Given the description of an element on the screen output the (x, y) to click on. 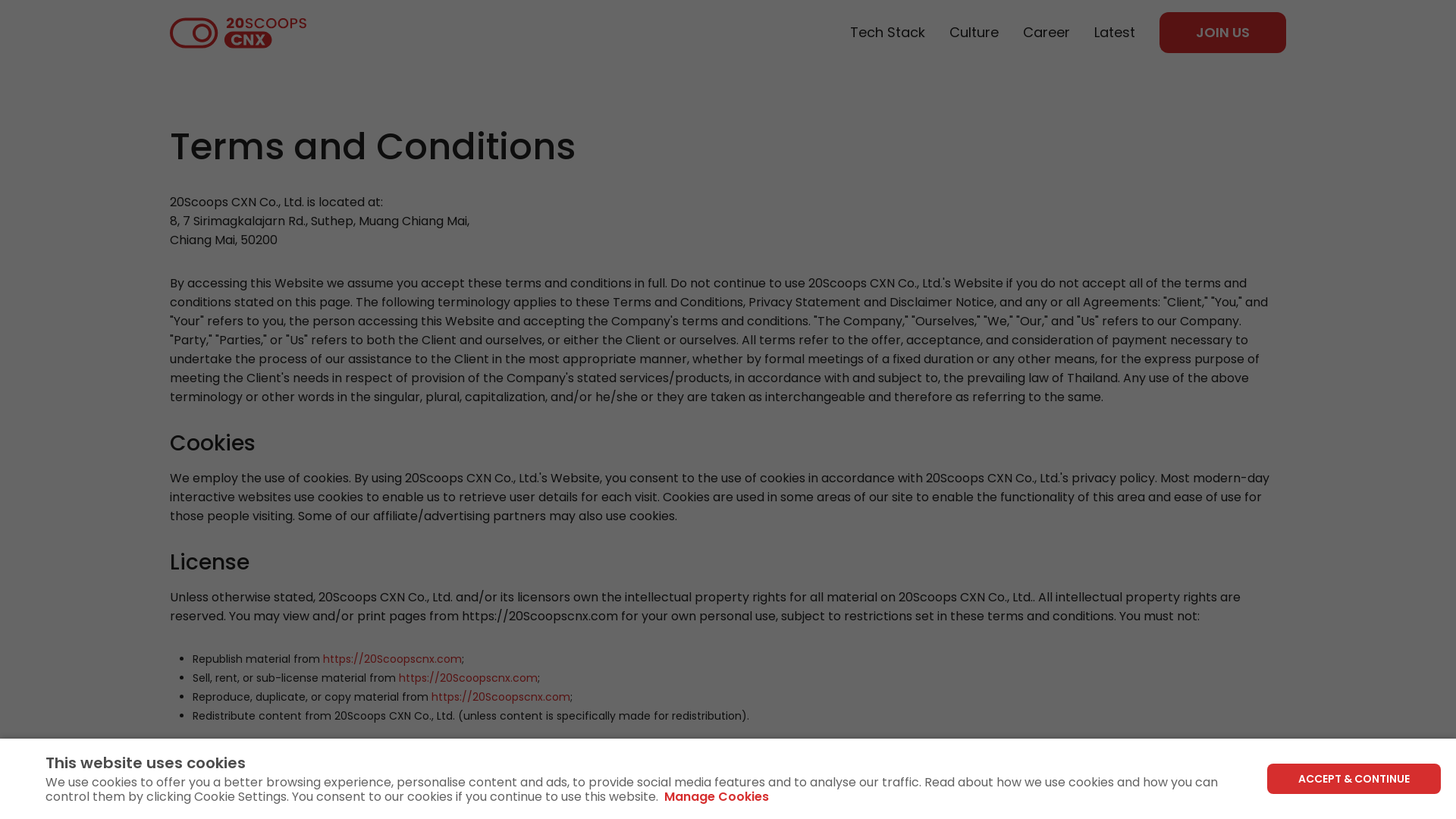
JOIN US Element type: text (1222, 32)
Culture Element type: text (973, 32)
Career Element type: text (1046, 32)
ACCEPT & CONTINUE Element type: text (1353, 778)
https://20Scoopscnx.com Element type: text (467, 677)
https://20Scoopscnx.com Element type: text (392, 658)
Latest Element type: text (1114, 32)
Tech Stack Element type: text (887, 32)
https://20Scoopscnx.com Element type: text (500, 696)
Manage Cookies Element type: text (716, 796)
